Given the description of an element on the screen output the (x, y) to click on. 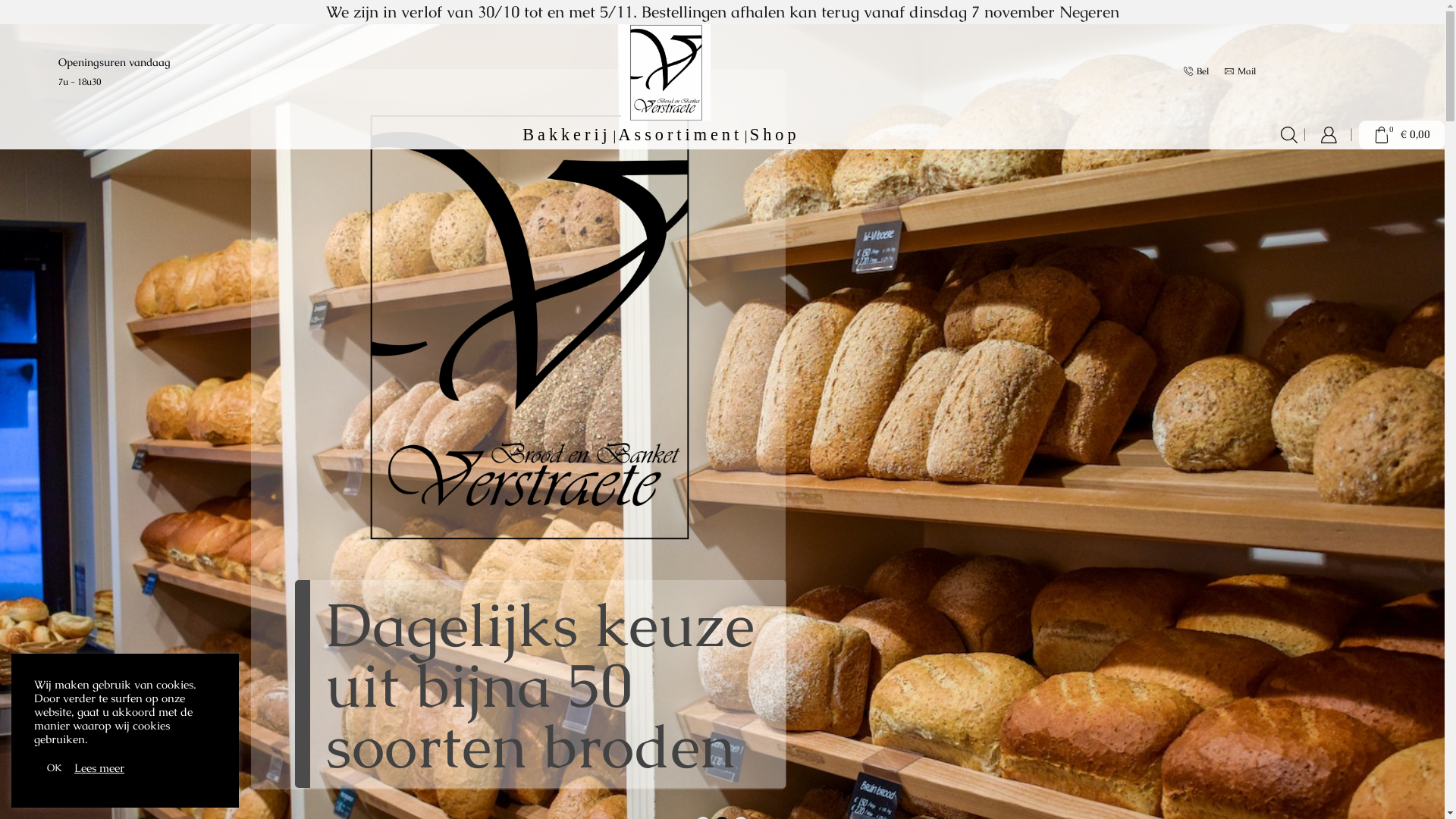
Assortiment Element type: text (680, 134)
Mail Element type: text (1240, 71)
Lees meer Element type: text (99, 768)
Bel Element type: text (1196, 71)
Shop Element type: text (774, 134)
OK Element type: text (53, 767)
Negeren Element type: text (1088, 11)
Bakkerij Element type: text (566, 134)
